Given the description of an element on the screen output the (x, y) to click on. 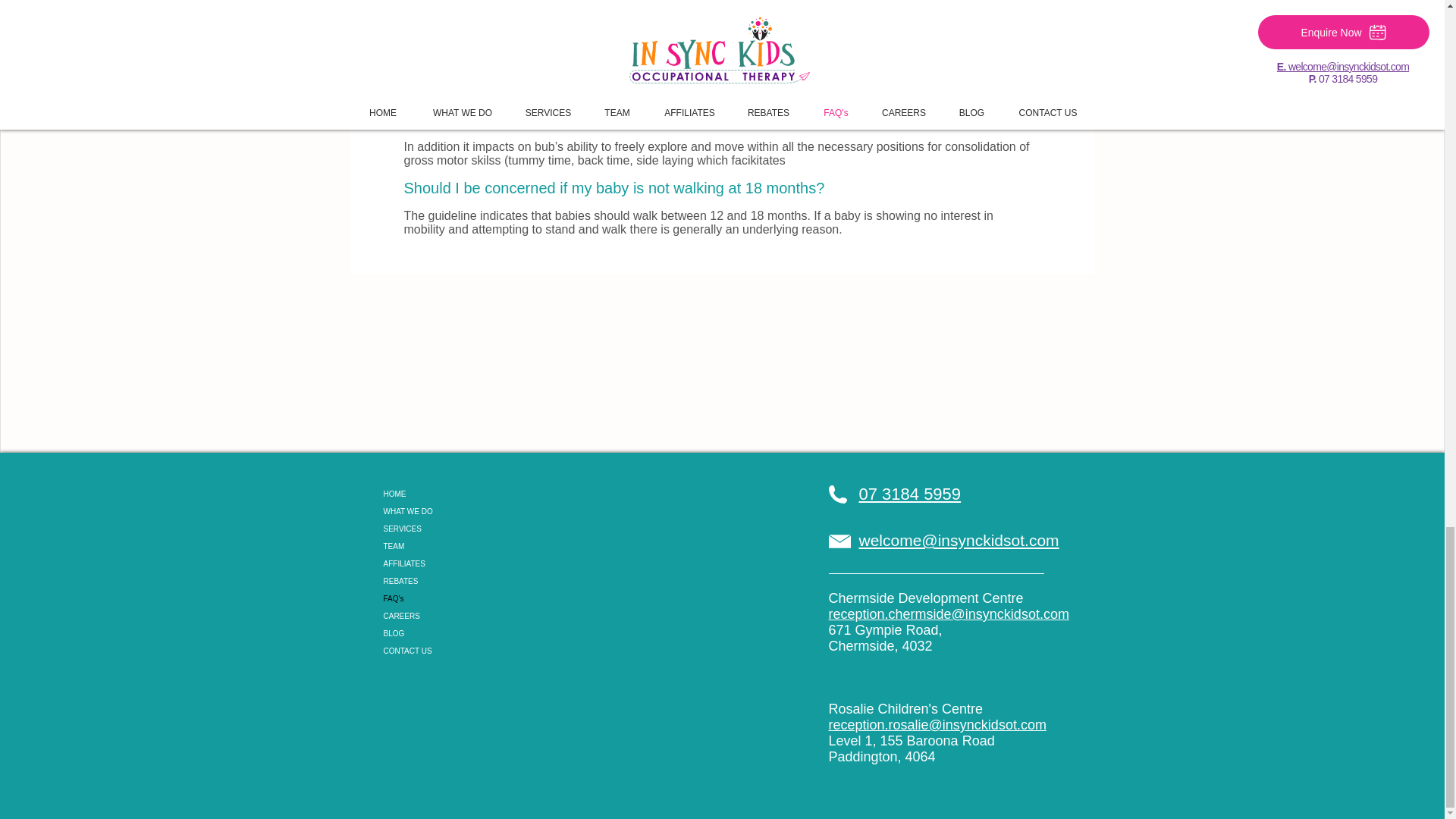
AFFILIATES (454, 563)
TEAM (454, 546)
07 3184 5959 (909, 493)
CAREERS (454, 615)
BLOG (454, 633)
FAQ's (454, 598)
SERVICES (454, 528)
REBATES (454, 580)
CONTACT US (454, 651)
HOME (454, 493)
